Given the description of an element on the screen output the (x, y) to click on. 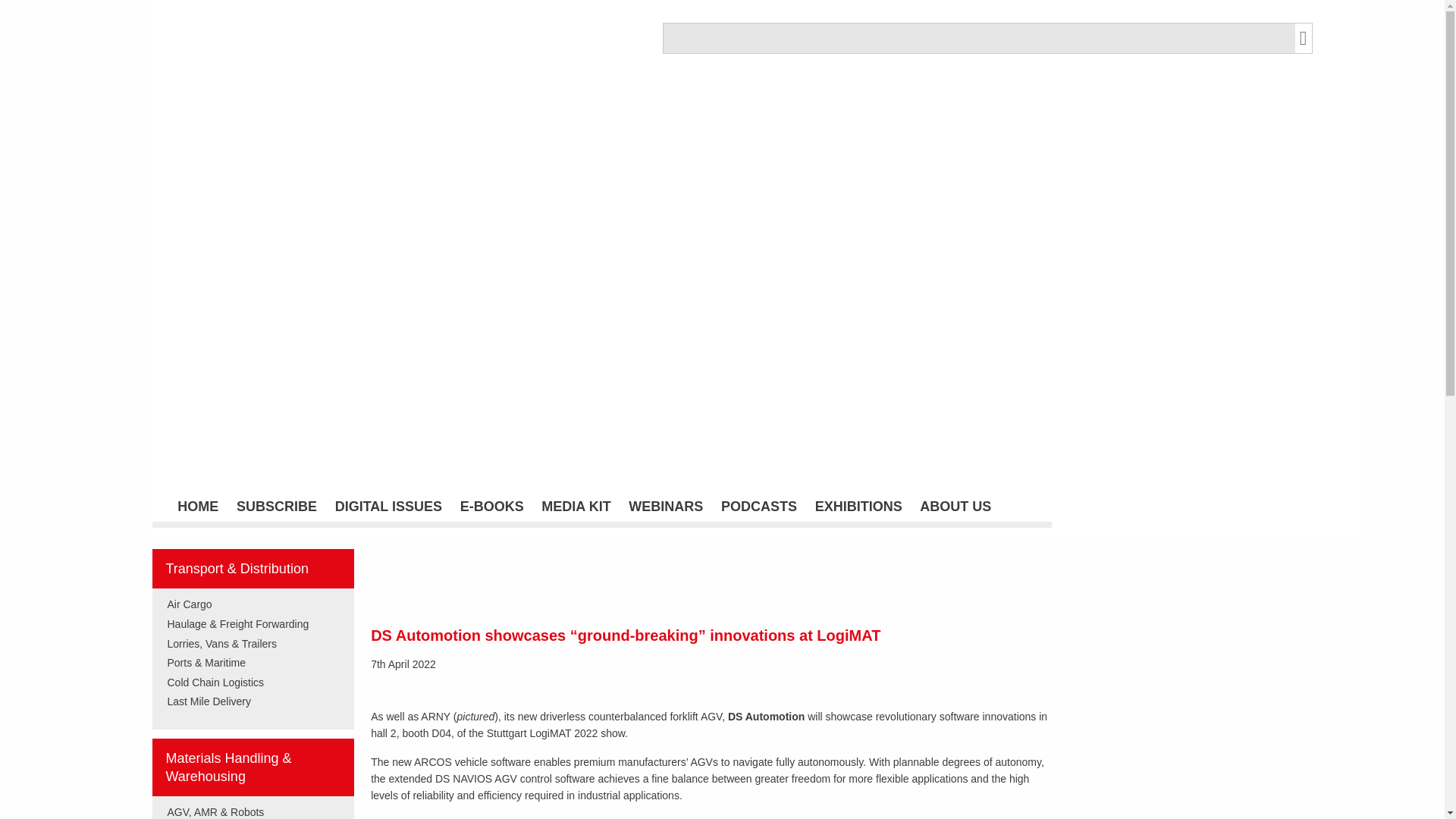
Search for: (978, 38)
